Given the description of an element on the screen output the (x, y) to click on. 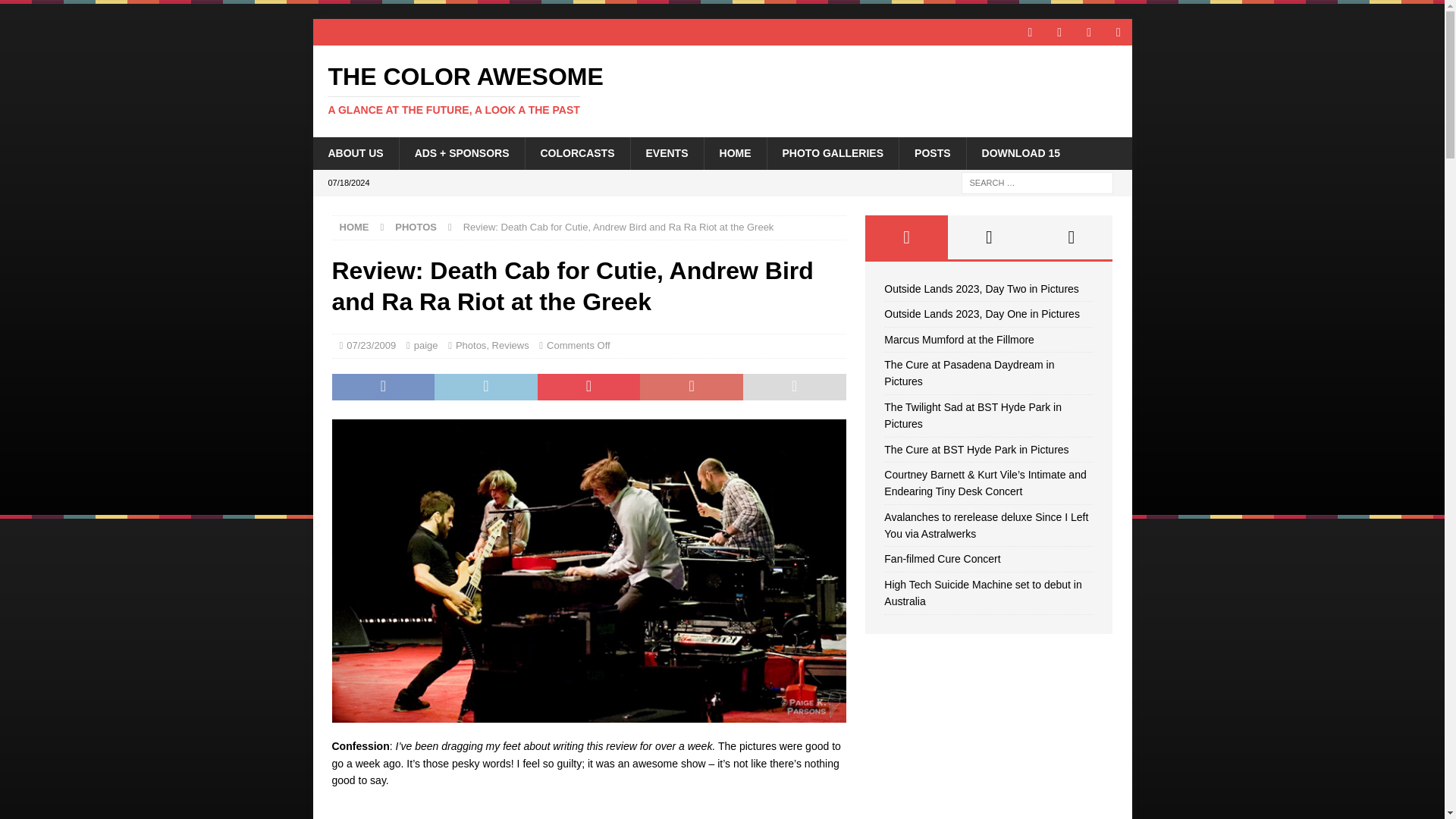
HOME (354, 226)
ABOUT US (721, 90)
banner-dcfc (355, 152)
PHOTO GALLERIES (1020, 152)
Search (833, 152)
HOME (56, 11)
The Color Awesome (735, 152)
COLORCASTS (721, 90)
EVENTS (577, 152)
paige (665, 152)
Photos (425, 345)
Reviews (470, 345)
POSTS (510, 345)
